Given the description of an element on the screen output the (x, y) to click on. 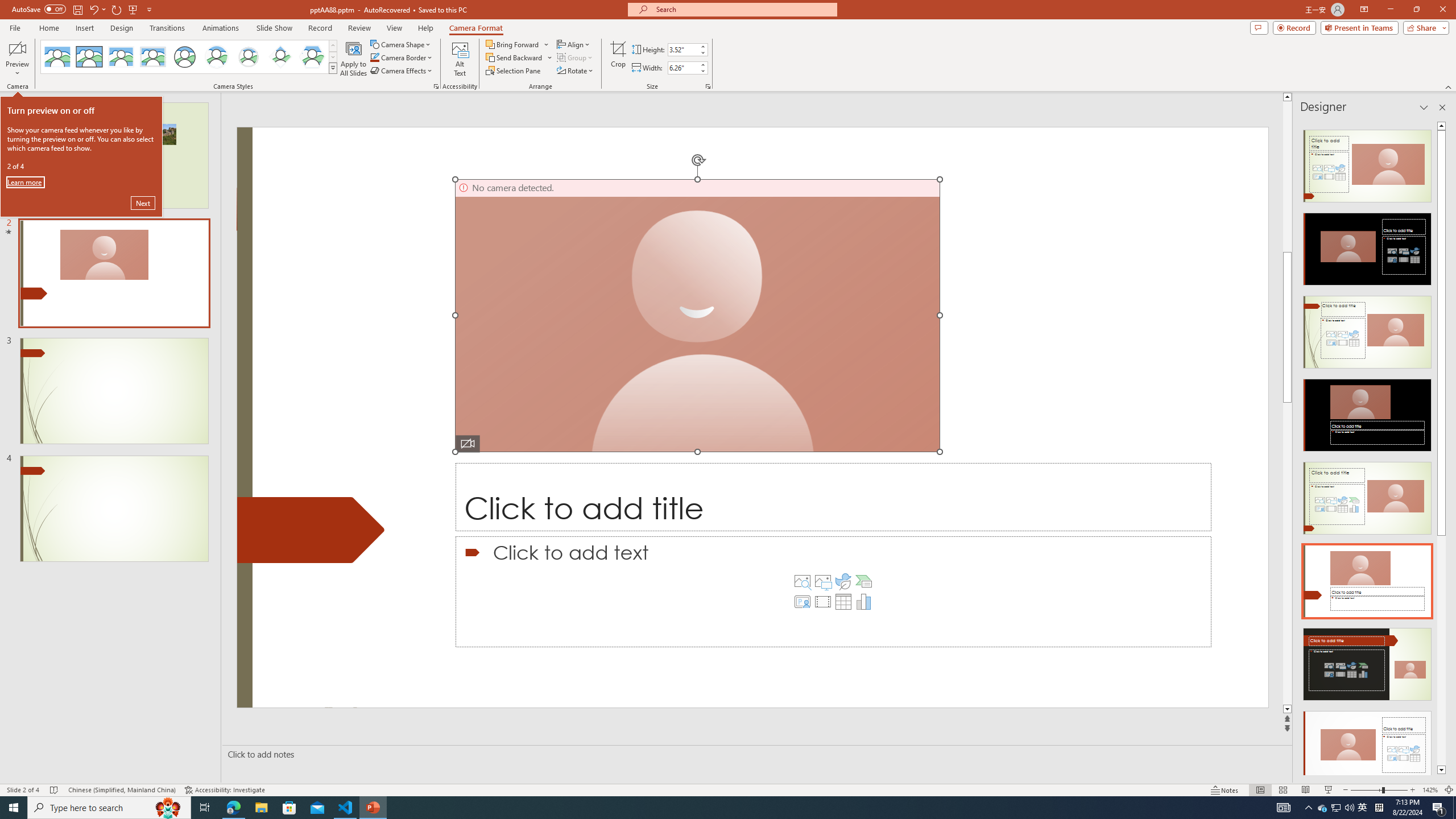
Content Placeholder (833, 591)
Camera Format (475, 28)
Center Shadow Hexagon (312, 56)
Cameo Height (682, 49)
Send Backward (518, 56)
Zoom 142% (1430, 790)
Group (575, 56)
Insert Chart (863, 601)
Decorative Locked (310, 530)
